Given the description of an element on the screen output the (x, y) to click on. 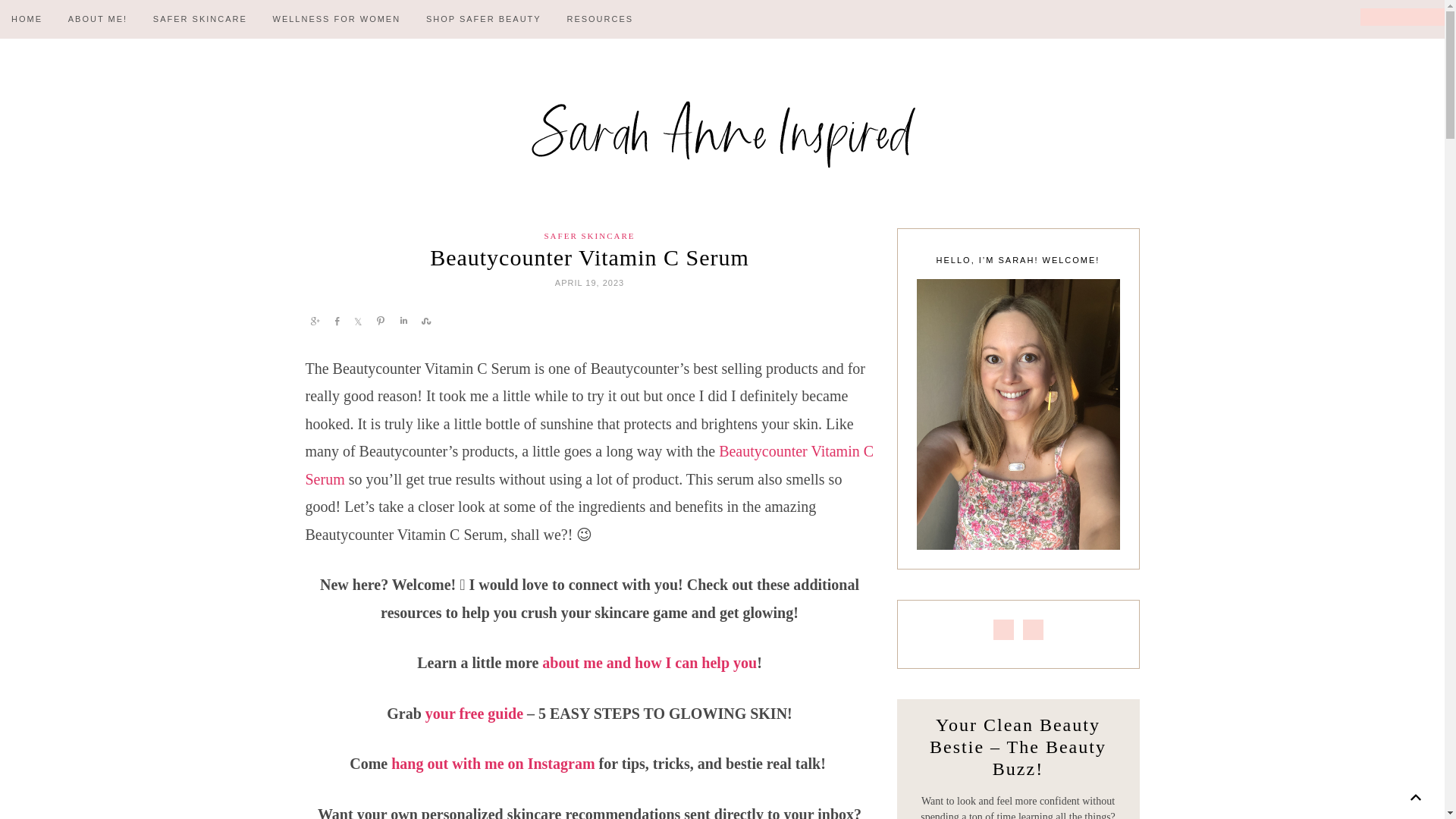
Share (313, 320)
your free guide (473, 713)
SHOP SAFER BEAUTY (483, 19)
hang out with me on Instagram (492, 763)
SAFER SKINCARE (589, 235)
Share (336, 320)
RESOURCES (599, 19)
about me and how I can help you (647, 662)
SAFER SKINCARE (200, 19)
ABOUT ME! (97, 19)
Share (401, 320)
Share (423, 320)
Share (357, 320)
Pin (380, 320)
SARAH ANNE INSPIRED (721, 133)
